Given the description of an element on the screen output the (x, y) to click on. 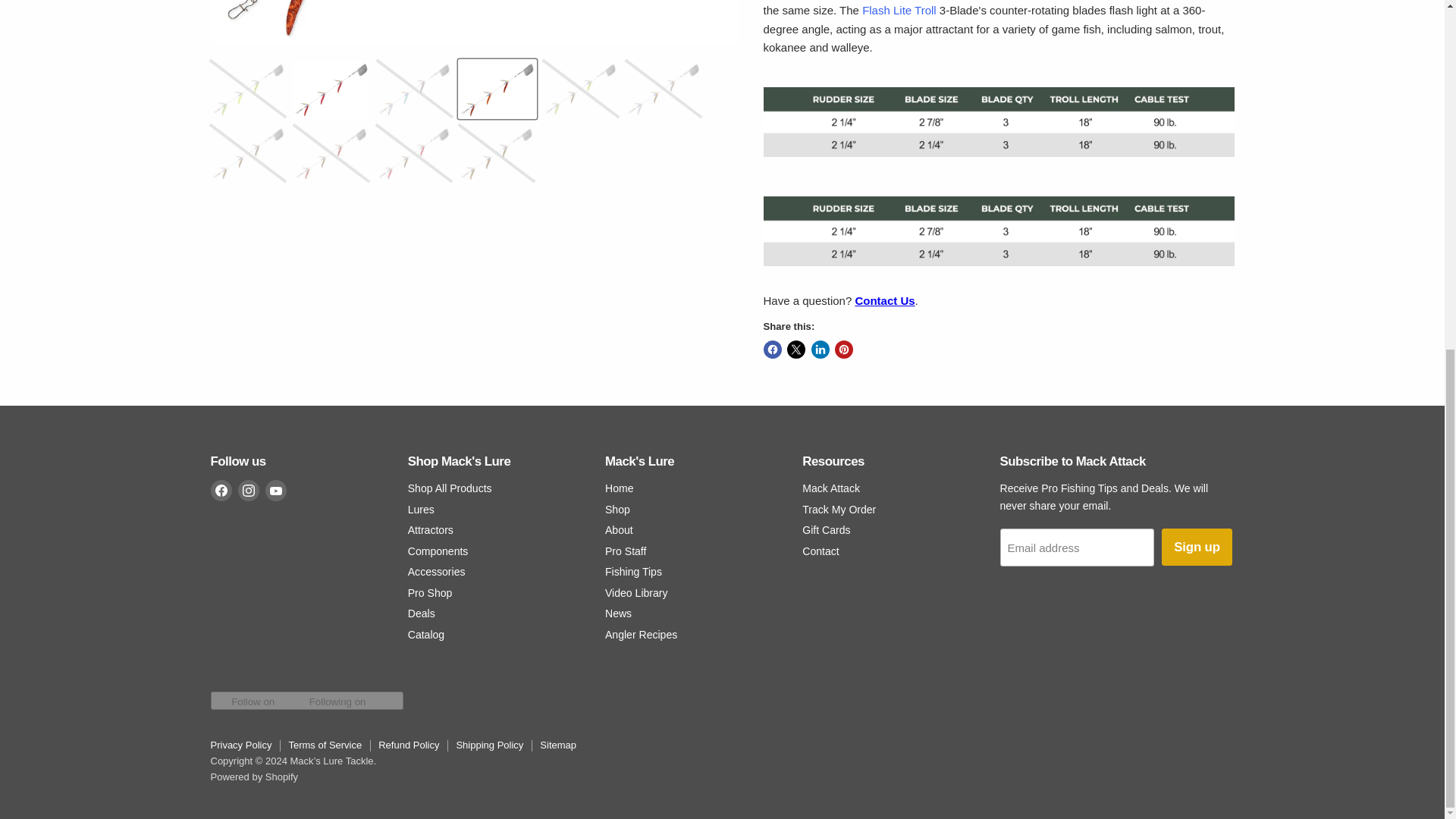
Instagram (248, 490)
Contact (884, 300)
YouTube (275, 490)
Facebook (221, 490)
Flash Lite Trolls (898, 10)
